Given the description of an element on the screen output the (x, y) to click on. 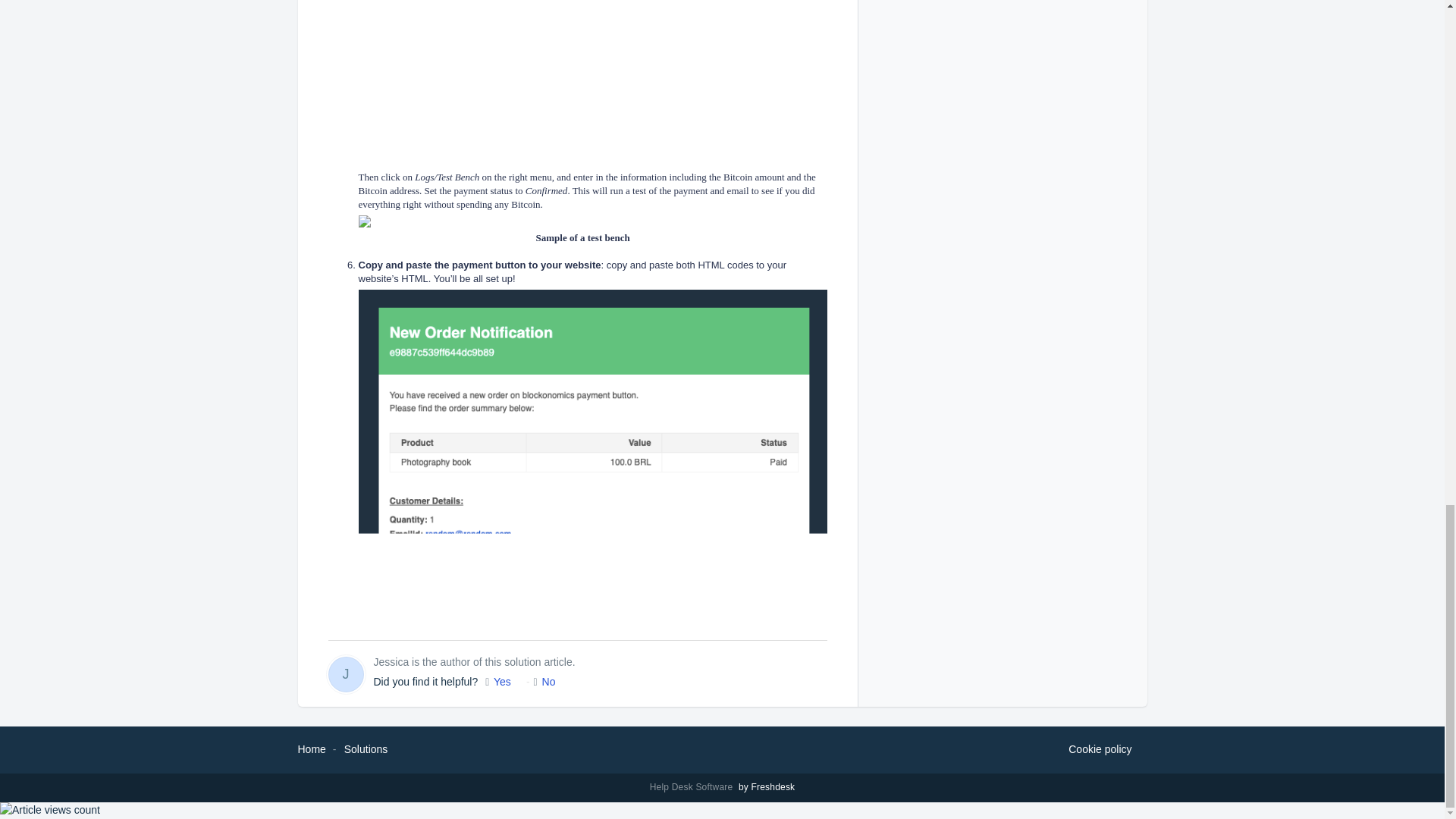
Solutions (365, 748)
Cookie policy (1099, 750)
Home (310, 748)
Why we love Cookies (1099, 750)
Help Desk Software (693, 787)
